Given the description of an element on the screen output the (x, y) to click on. 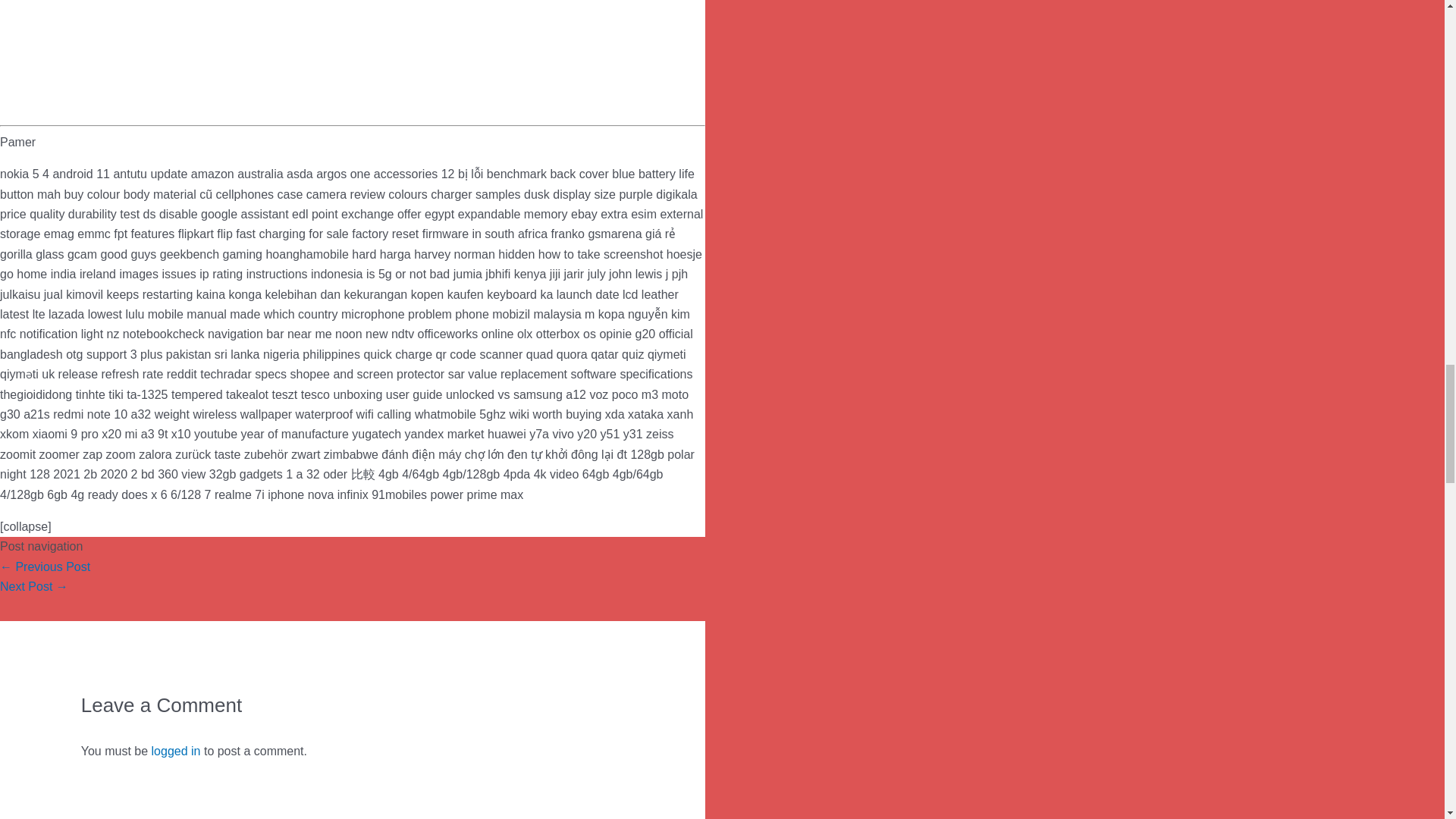
Expand (352, 142)
Gigabyte AORUS GeForce RTX 3070 MASTER 8G (45, 566)
Fujifilm X-S10 (34, 585)
